Given the description of an element on the screen output the (x, y) to click on. 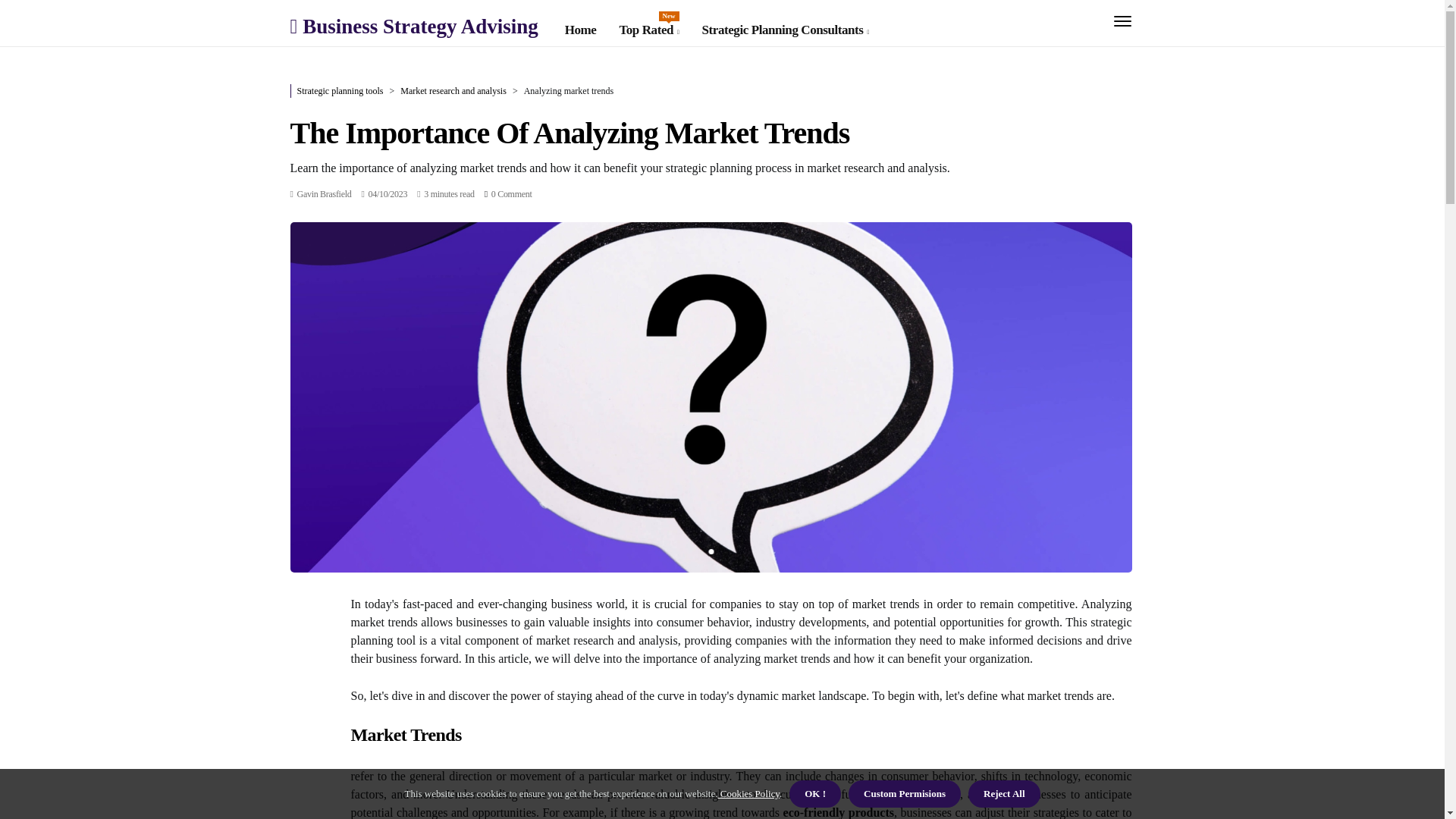
Posts by Gavin Brasfield (324, 193)
Business Strategy Advising (648, 30)
Strategic Planning Consultants (413, 26)
